Given the description of an element on the screen output the (x, y) to click on. 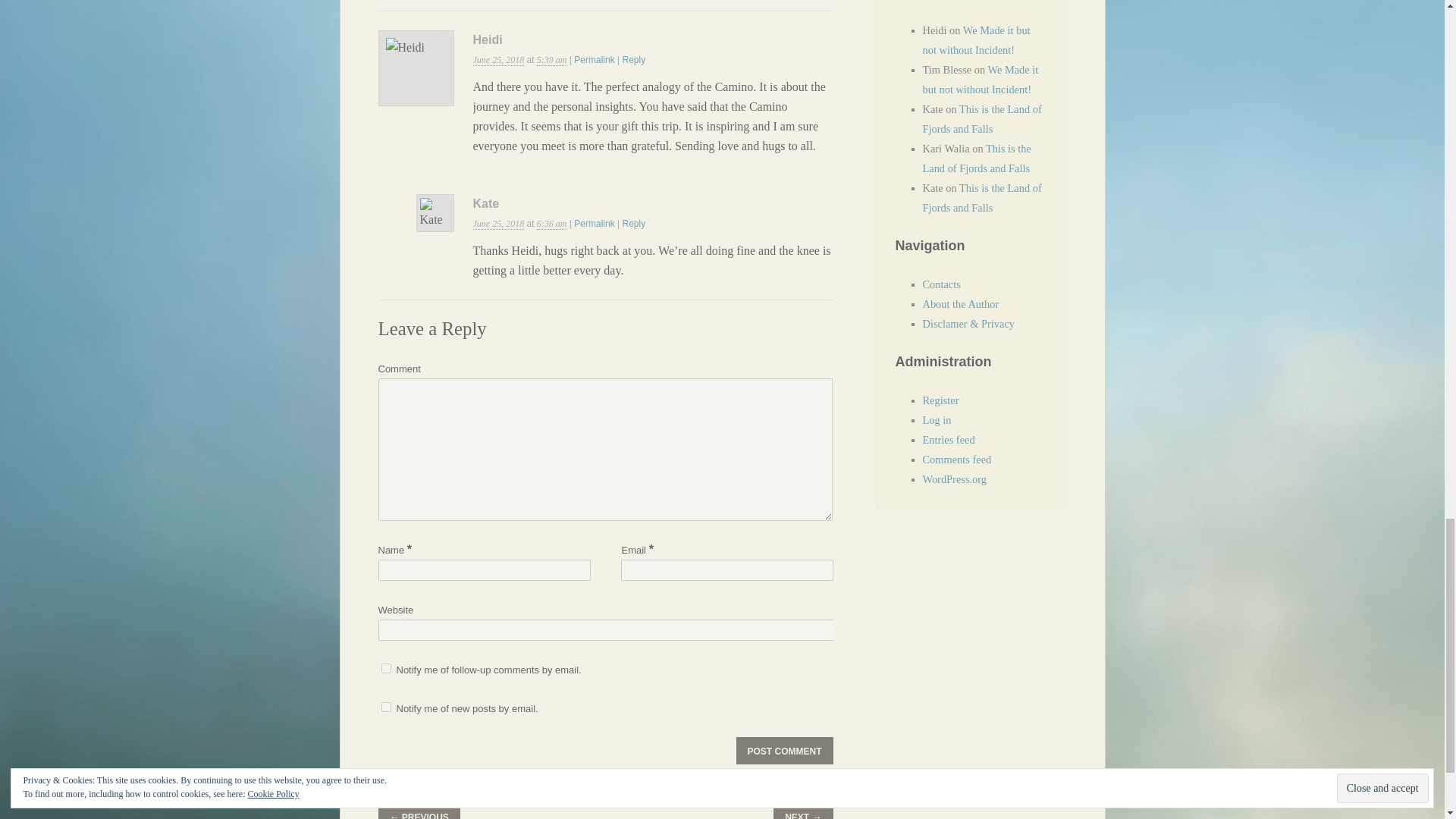
Post Comment (783, 750)
Permalink (593, 59)
subscribe (385, 706)
Reply (633, 59)
subscribe (385, 668)
